Given the description of an element on the screen output the (x, y) to click on. 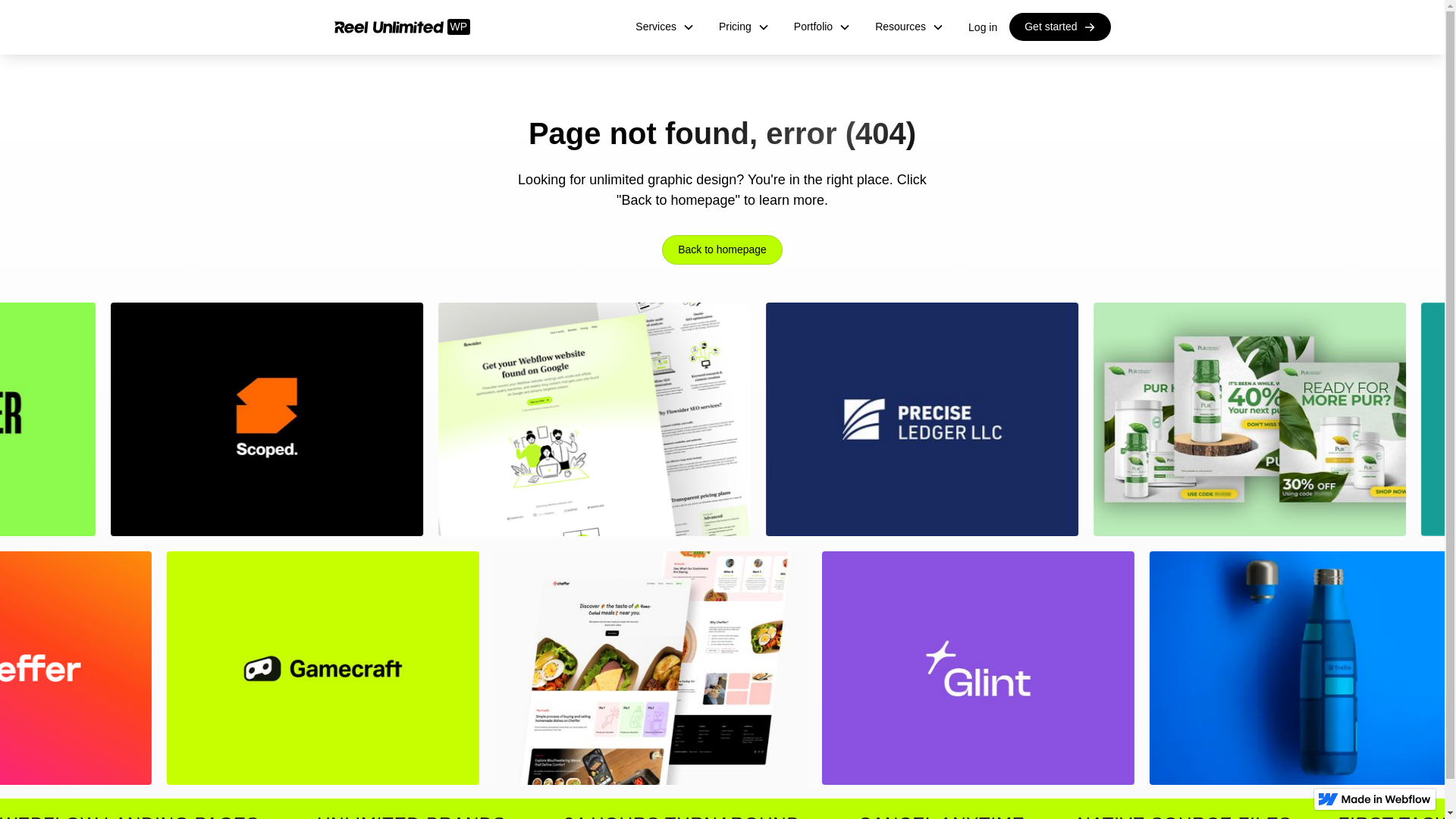
Log in (982, 26)
Back to homepage (722, 249)
Get started (1059, 26)
